Given the description of an element on the screen output the (x, y) to click on. 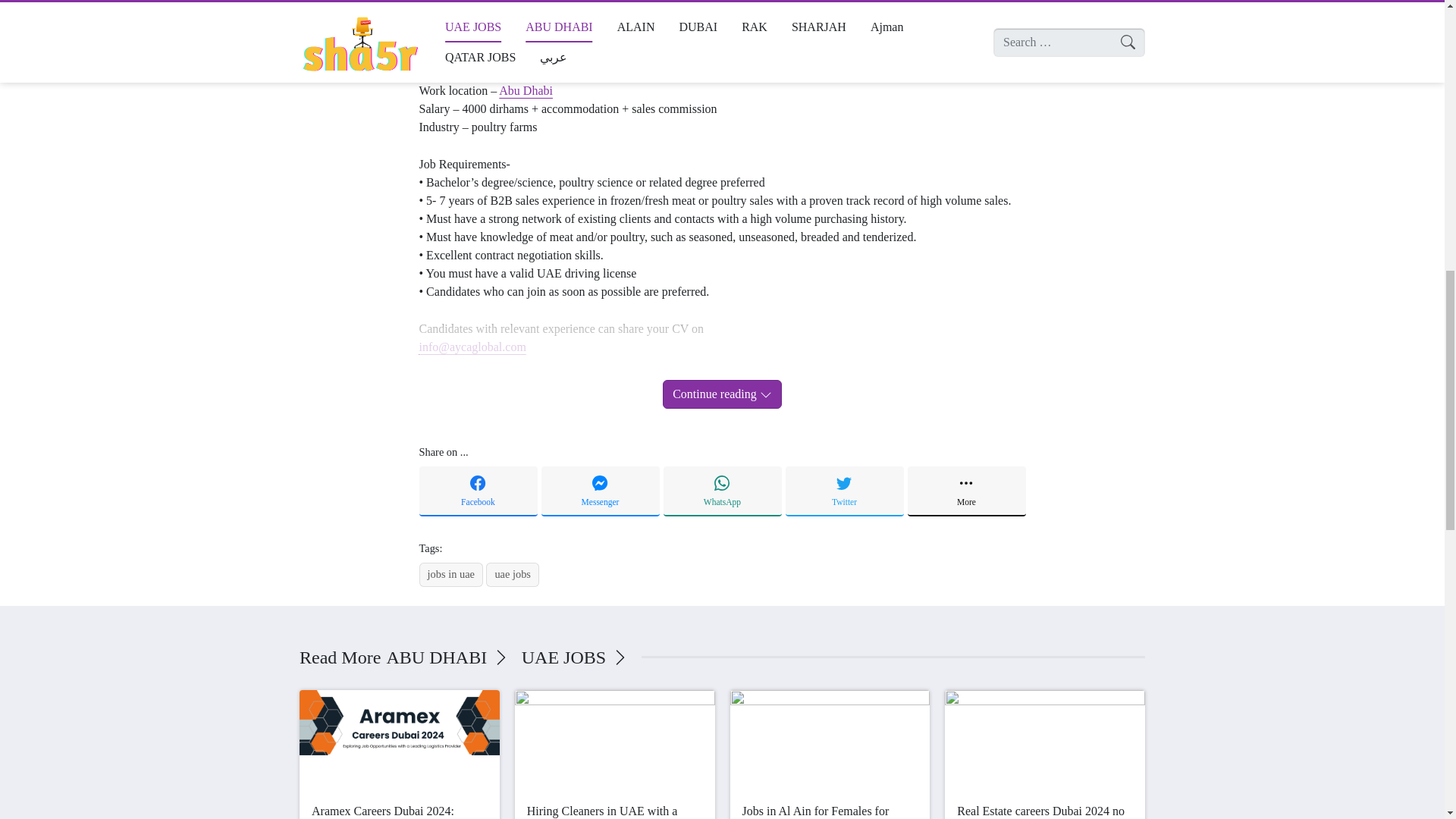
sales (469, 52)
Continue reading (721, 394)
Facebook (478, 491)
Messenger (600, 491)
Abu Dhabi (526, 90)
